Given the description of an element on the screen output the (x, y) to click on. 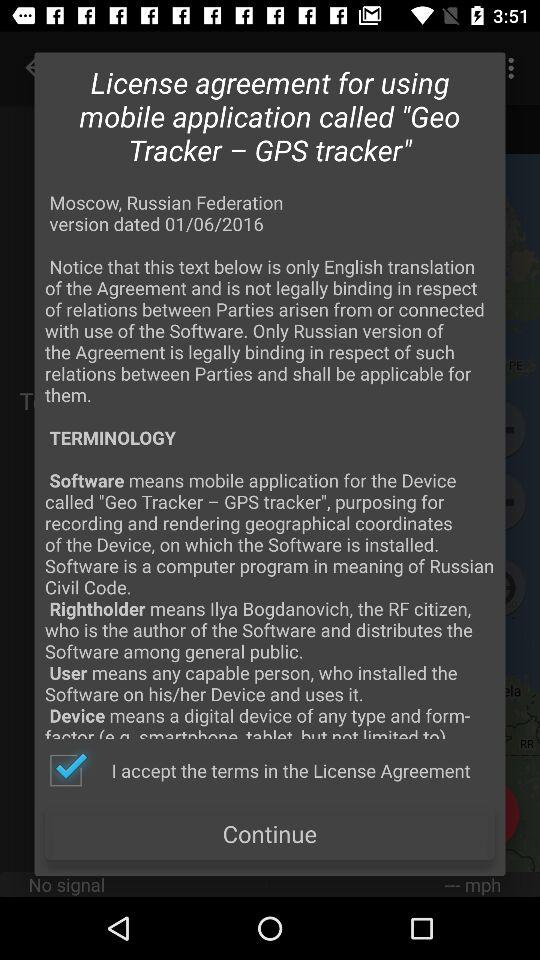
open the i accept the (259, 770)
